Given the description of an element on the screen output the (x, y) to click on. 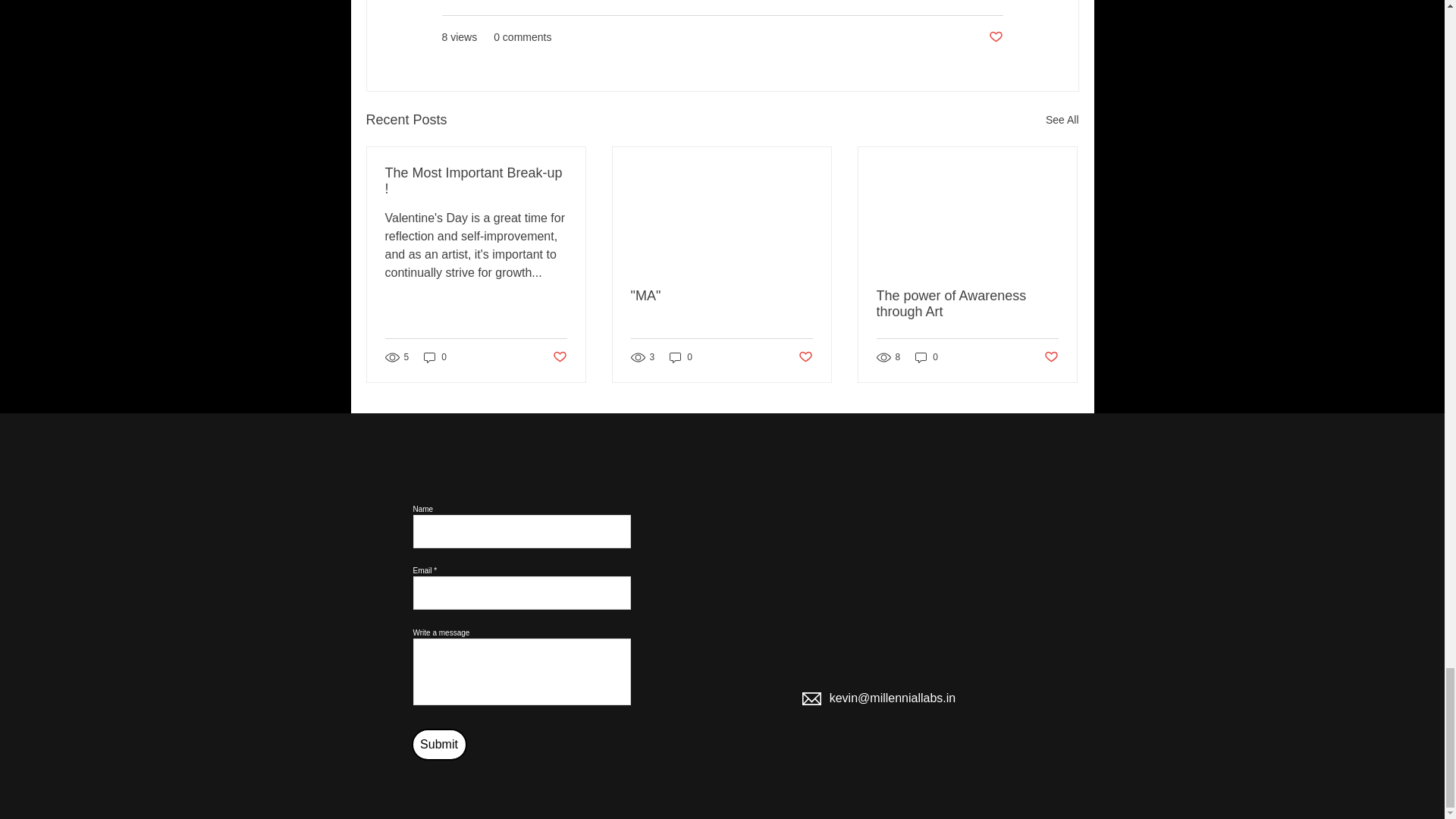
"MA" (721, 295)
0 (435, 357)
The power of Awareness through Art (967, 304)
Post not marked as liked (804, 357)
0 (681, 357)
Post not marked as liked (995, 37)
See All (1061, 119)
Submit (437, 744)
Post not marked as liked (558, 357)
Post not marked as liked (1050, 357)
